Given the description of an element on the screen output the (x, y) to click on. 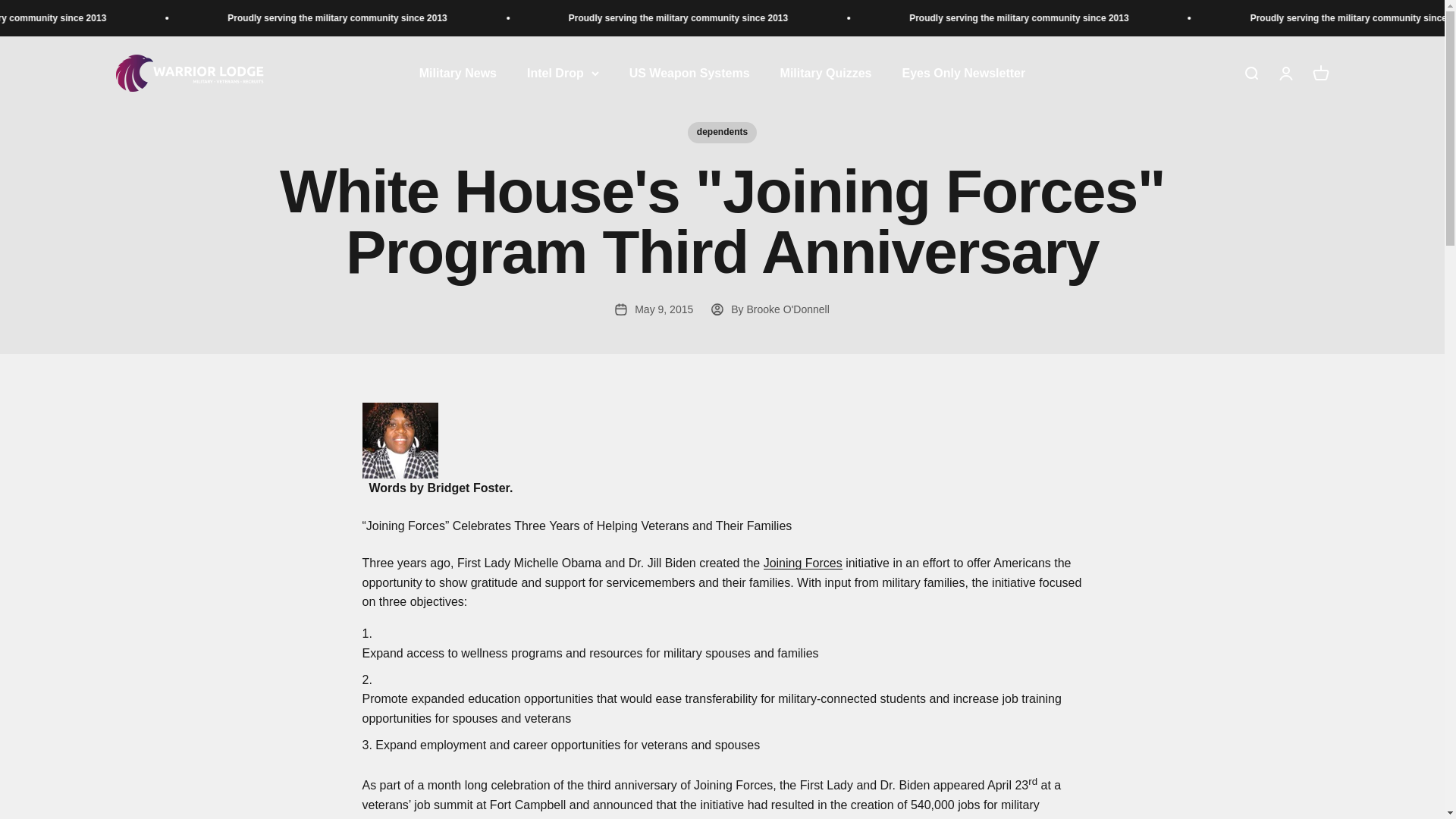
Warrior Lodge (189, 72)
US Weapon Systems (688, 72)
Joining Forces (802, 562)
dependents (722, 132)
Eyes Only Newsletter (963, 72)
Open search (1250, 73)
Open account page (1319, 73)
Military Quizzes (1285, 73)
Military News (826, 72)
